Given the description of an element on the screen output the (x, y) to click on. 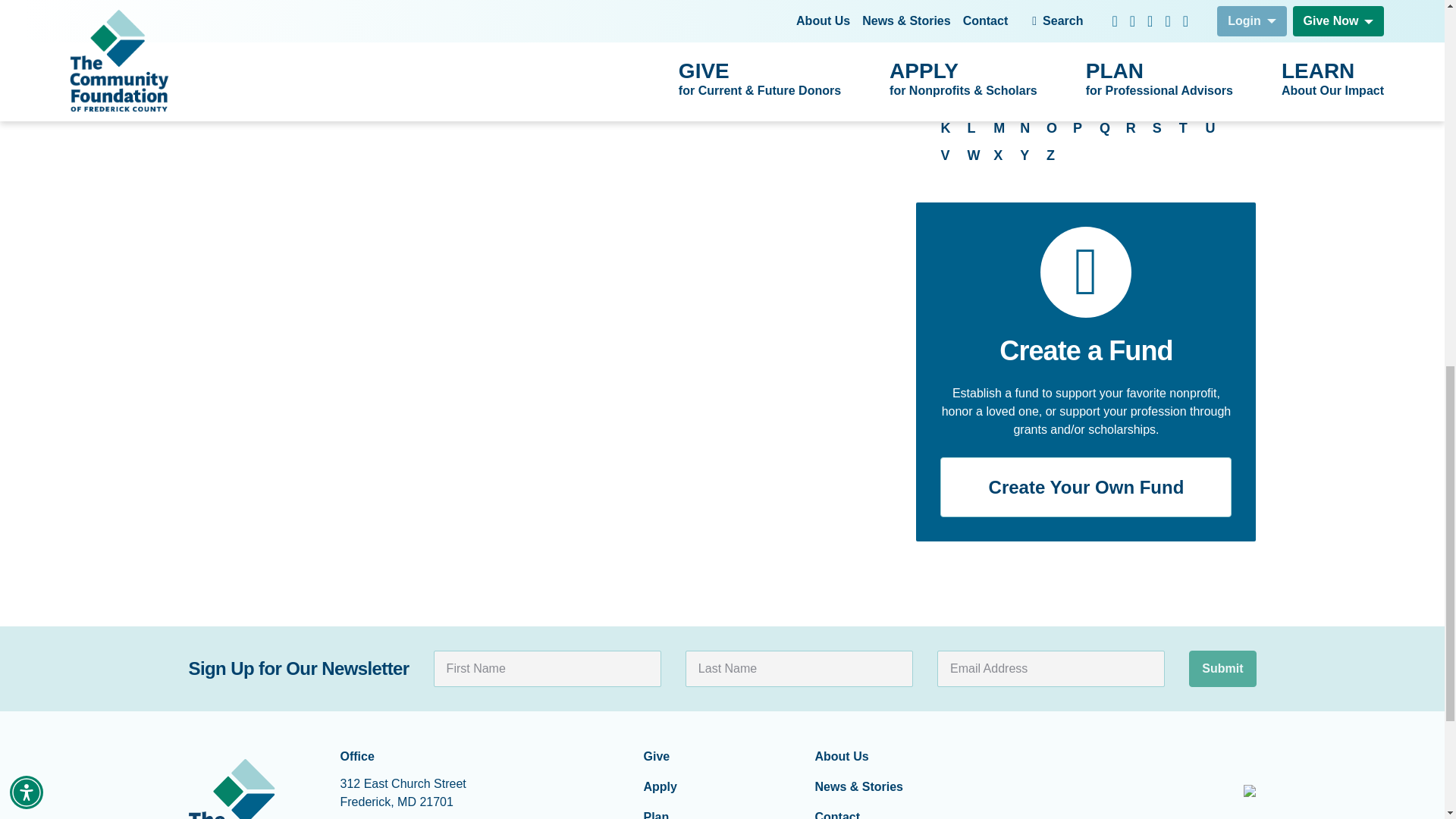
Submit (1222, 668)
